Given the description of an element on the screen output the (x, y) to click on. 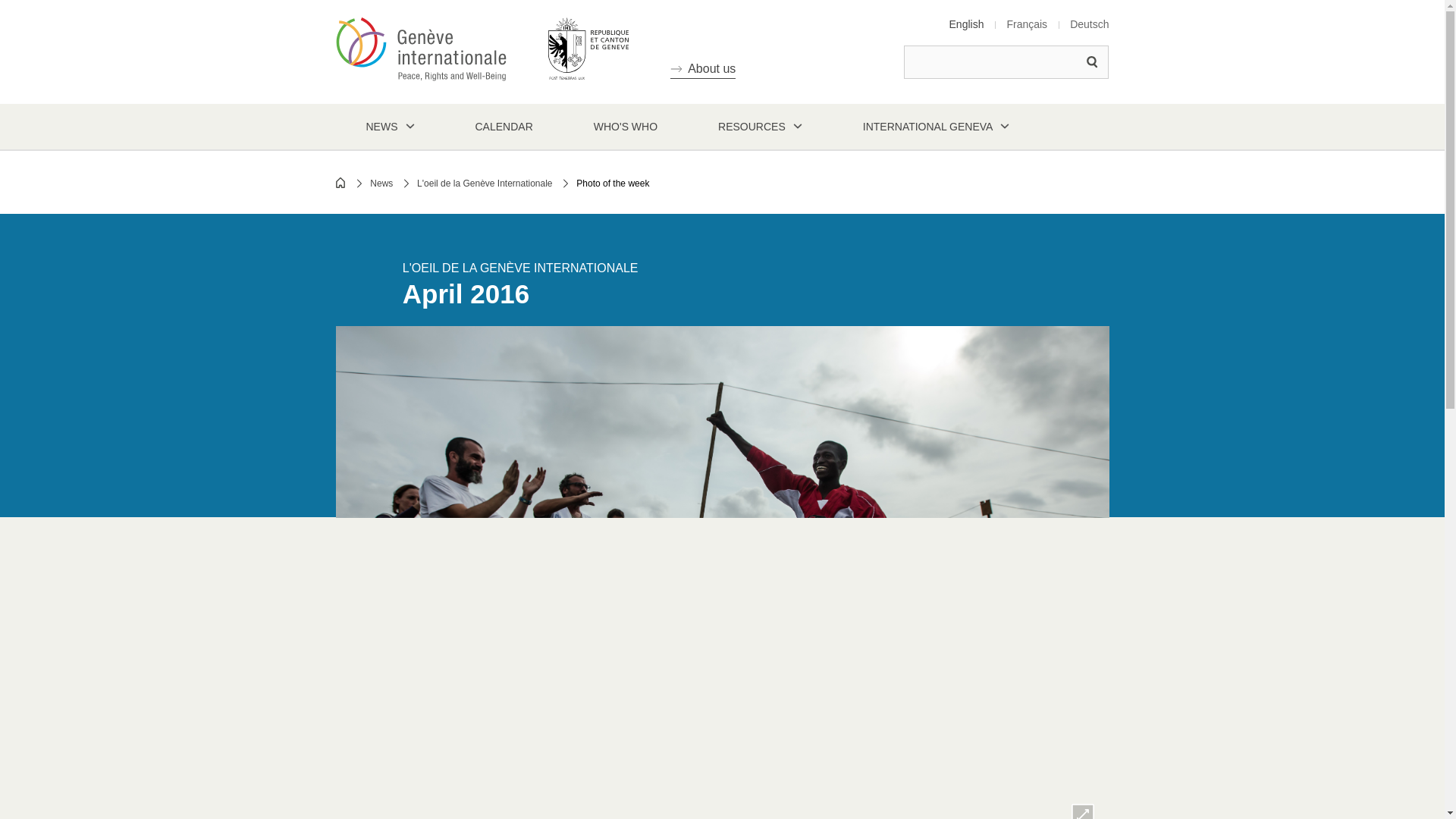
NEWS (389, 126)
WHO'S WHO (625, 126)
Search (1092, 62)
Deutsch (1089, 24)
INTERNATIONAL GENEVA (936, 126)
Search (1092, 62)
RESOURCES (759, 126)
Enter the terms you wish to search for. (1006, 61)
